Given the description of an element on the screen output the (x, y) to click on. 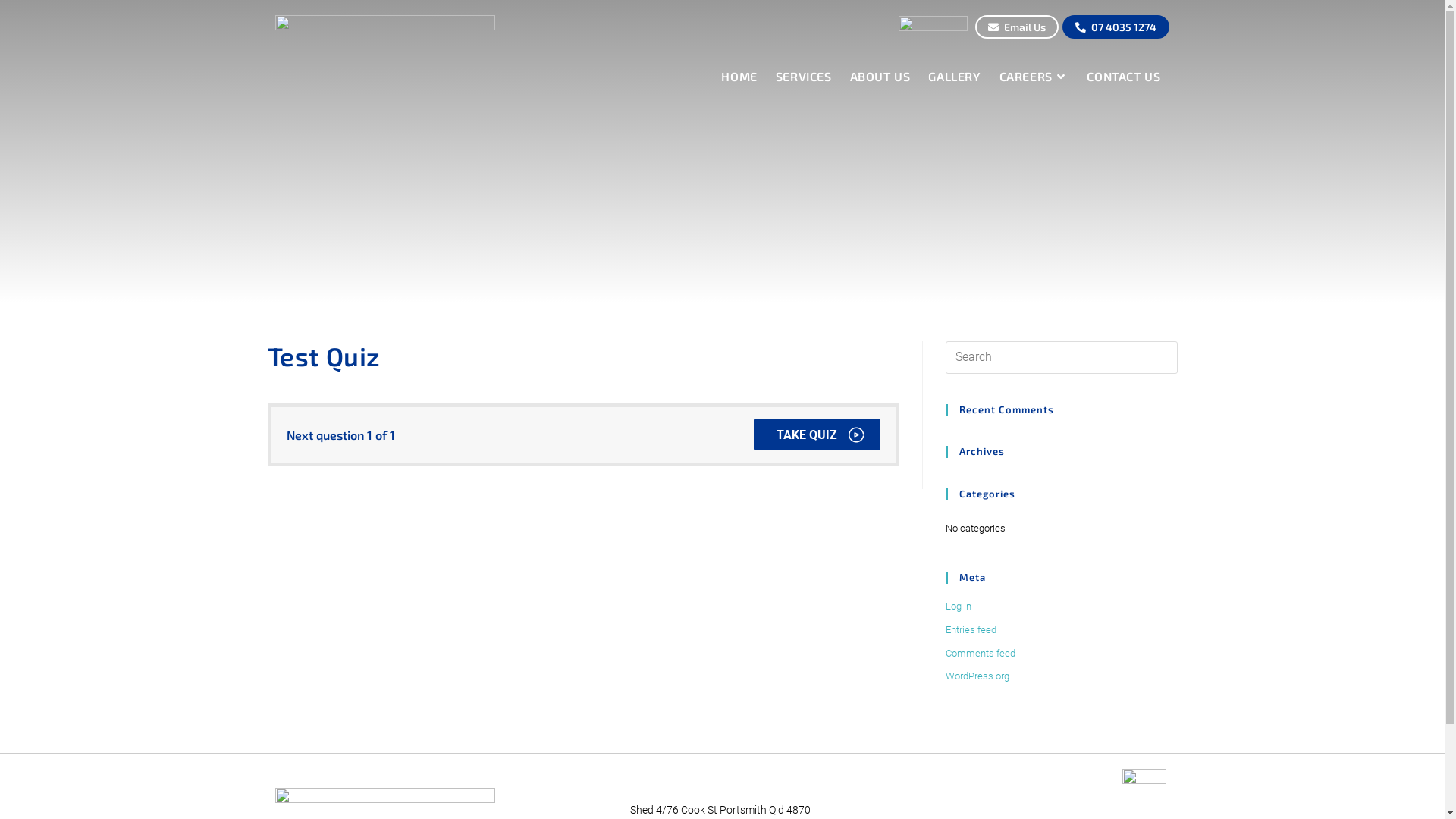
TAKE QUIZ  Element type: text (816, 434)
GALLERY Element type: text (954, 76)
Entries feed Element type: text (969, 629)
CONTACT US Element type: text (1123, 76)
HOME Element type: text (738, 76)
SERVICES Element type: text (803, 76)
07 4035 1274 Element type: text (1115, 26)
WordPress.org Element type: text (976, 675)
Log in Element type: text (957, 605)
ABOUT US Element type: text (879, 76)
CAREERS Element type: text (1034, 76)
Comments feed Element type: text (979, 652)
Email Us Element type: text (1016, 26)
